Given the description of an element on the screen output the (x, y) to click on. 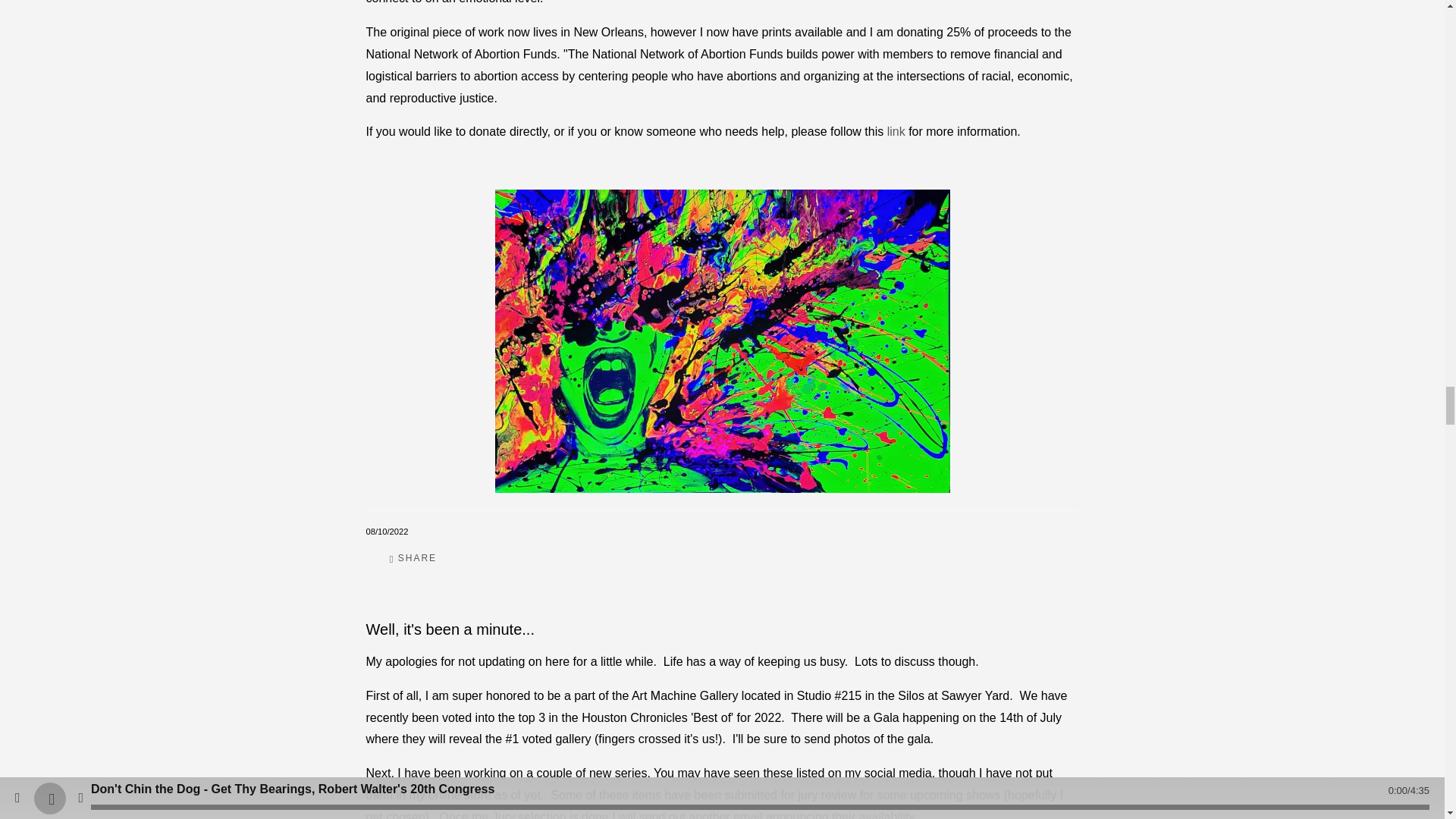
August 10, 2022 11:44 (386, 531)
